Given the description of an element on the screen output the (x, y) to click on. 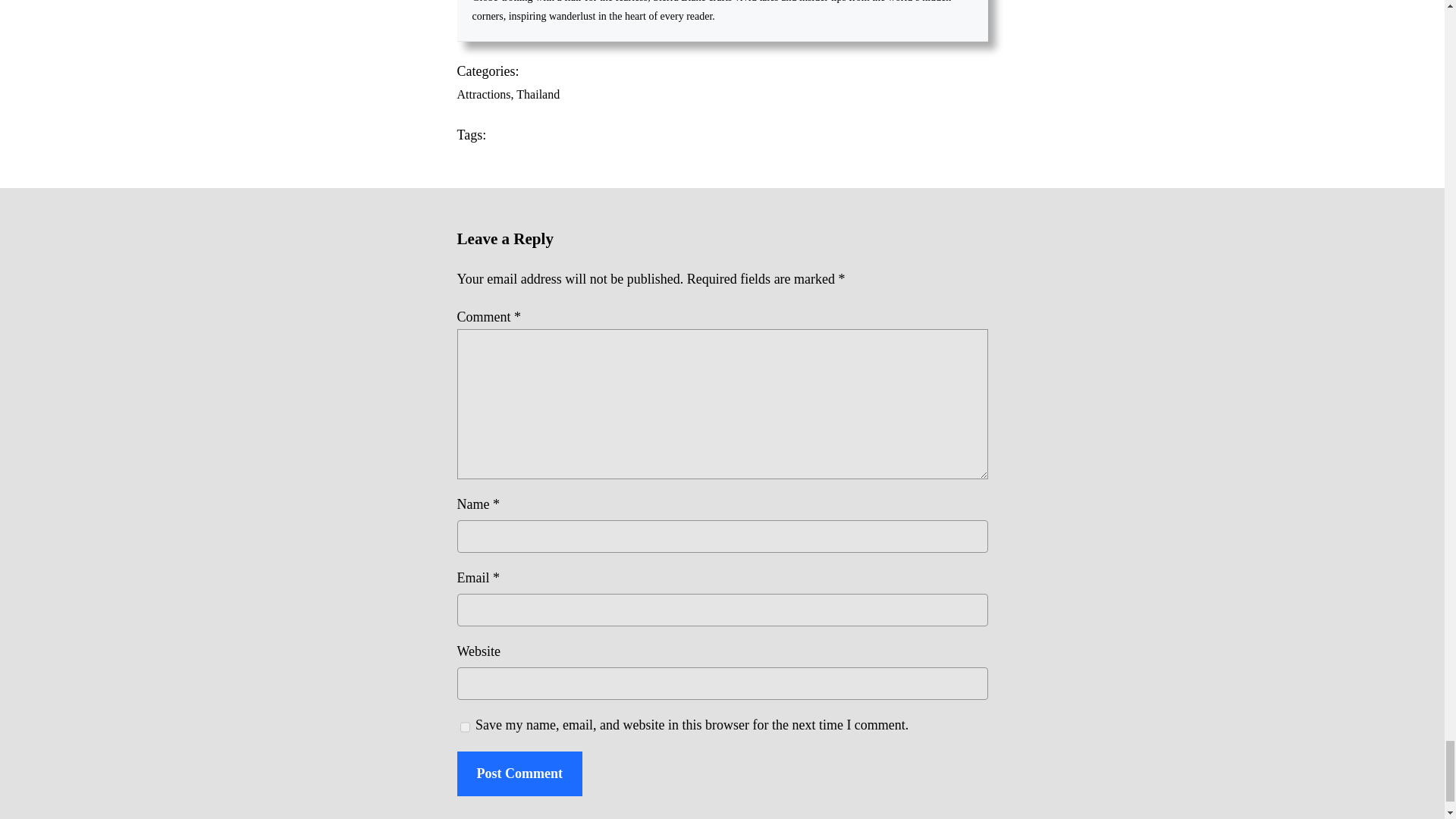
Thailand (537, 93)
Attractions (484, 93)
Post Comment (518, 773)
Post Comment (518, 773)
